Given the description of an element on the screen output the (x, y) to click on. 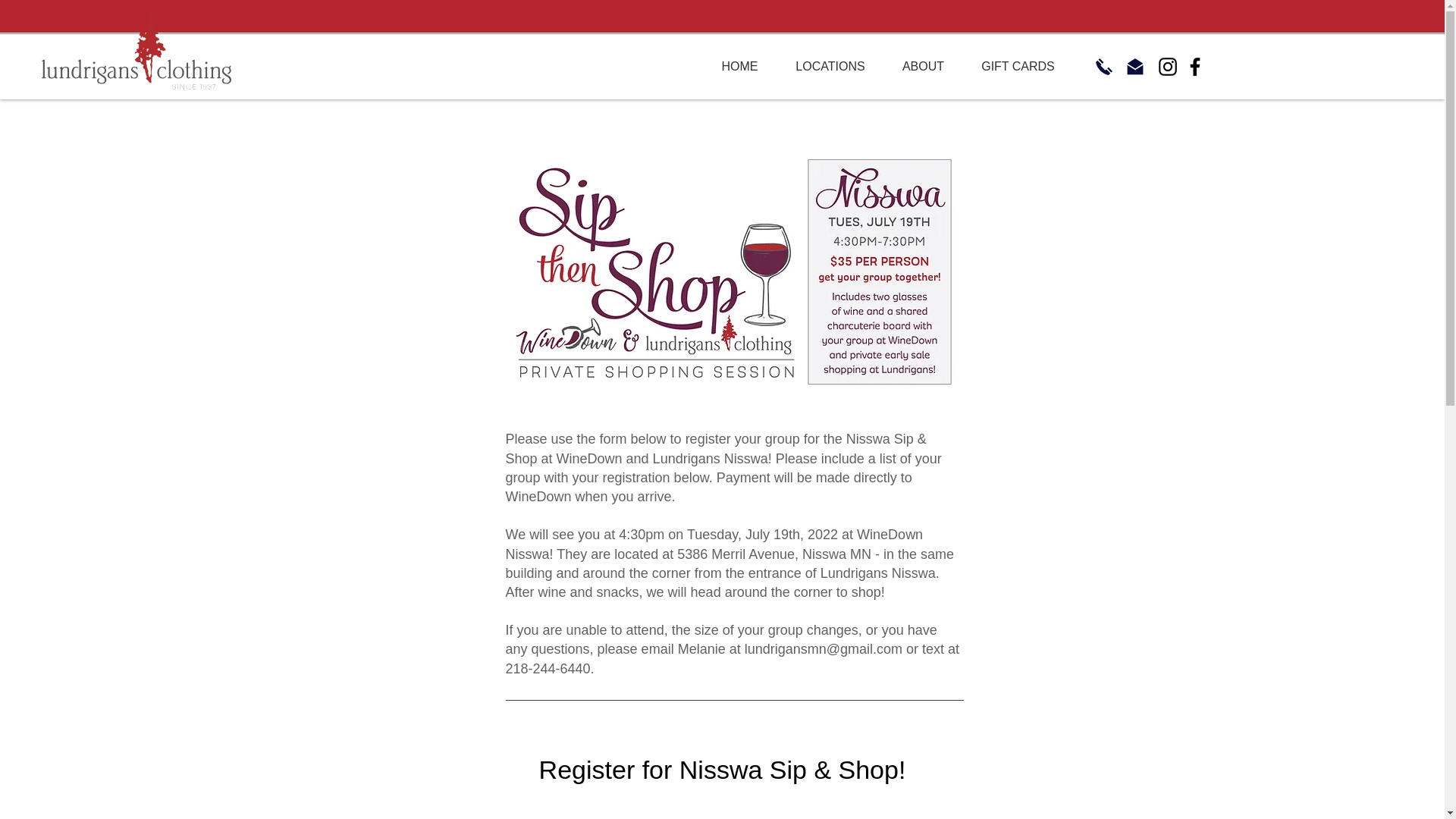
HOME (738, 66)
ABOUT (922, 66)
LOCATIONS (829, 66)
GIFT CARDS (1018, 66)
